Given the description of an element on the screen output the (x, y) to click on. 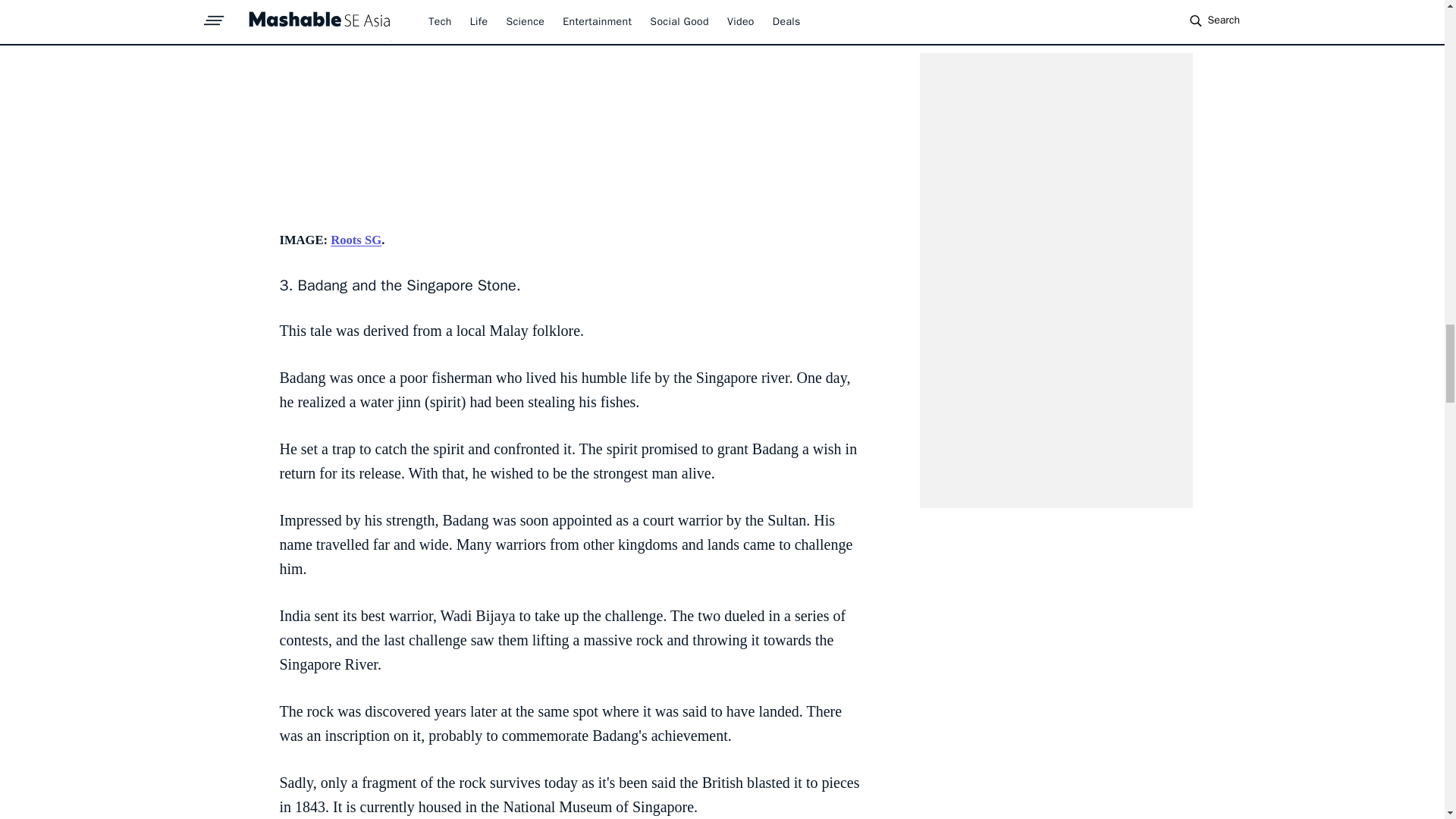
Roots SG (355, 239)
